Given the description of an element on the screen output the (x, y) to click on. 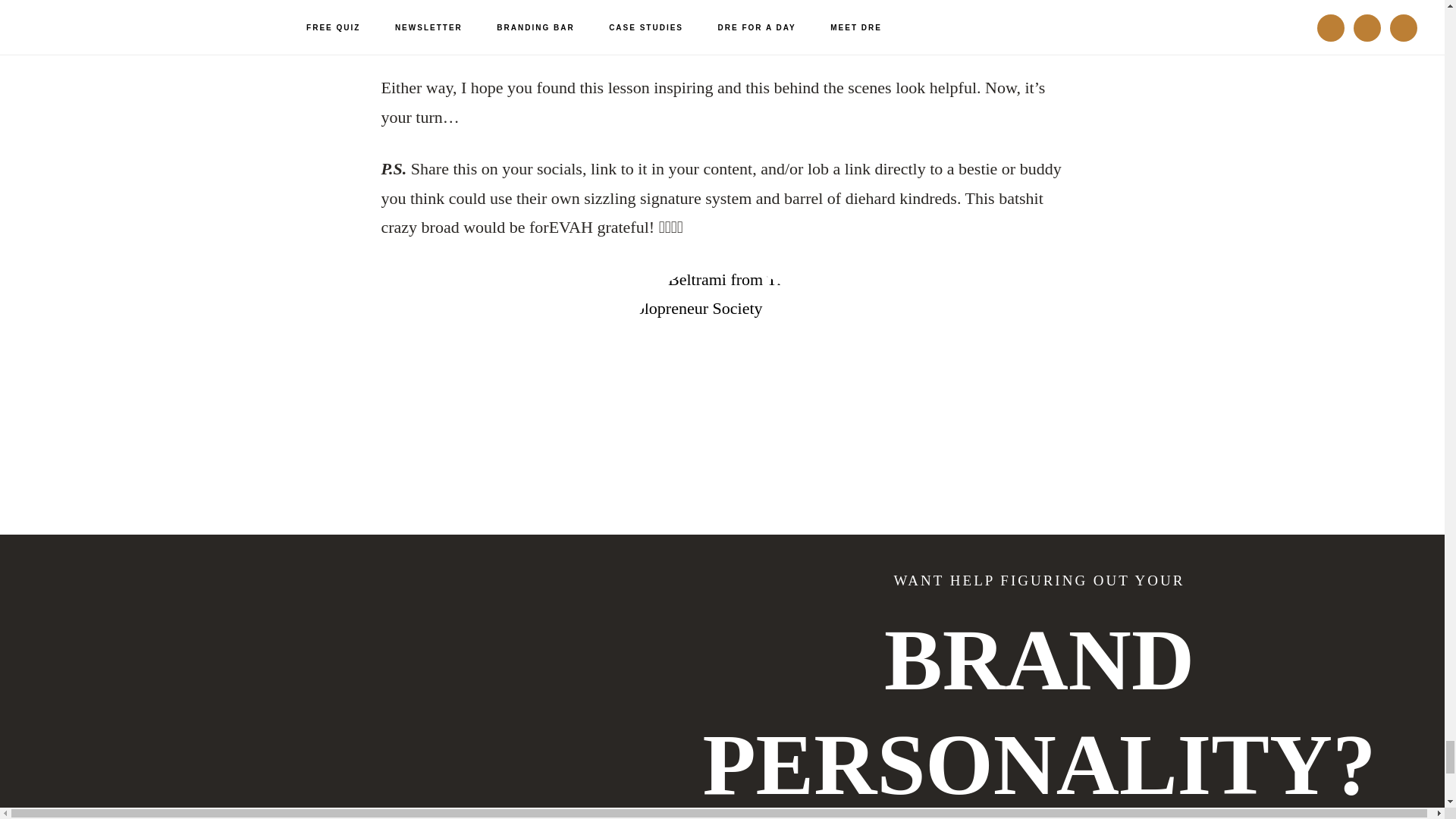
Dre Beltrami from The Solopreneur Society (721, 360)
pop into my Facebook PMs (611, 35)
email me (768, 35)
